Given the description of an element on the screen output the (x, y) to click on. 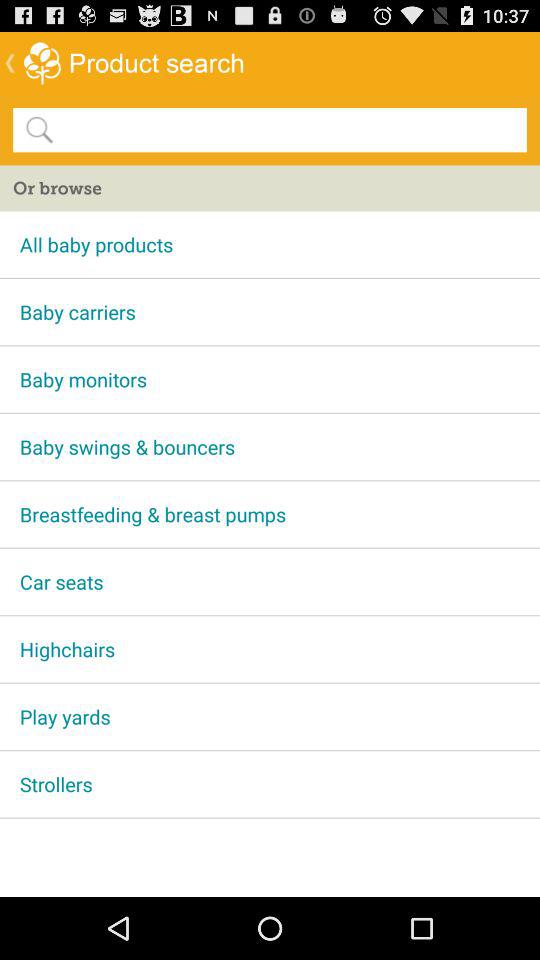
launch the strollers icon (270, 784)
